Given the description of an element on the screen output the (x, y) to click on. 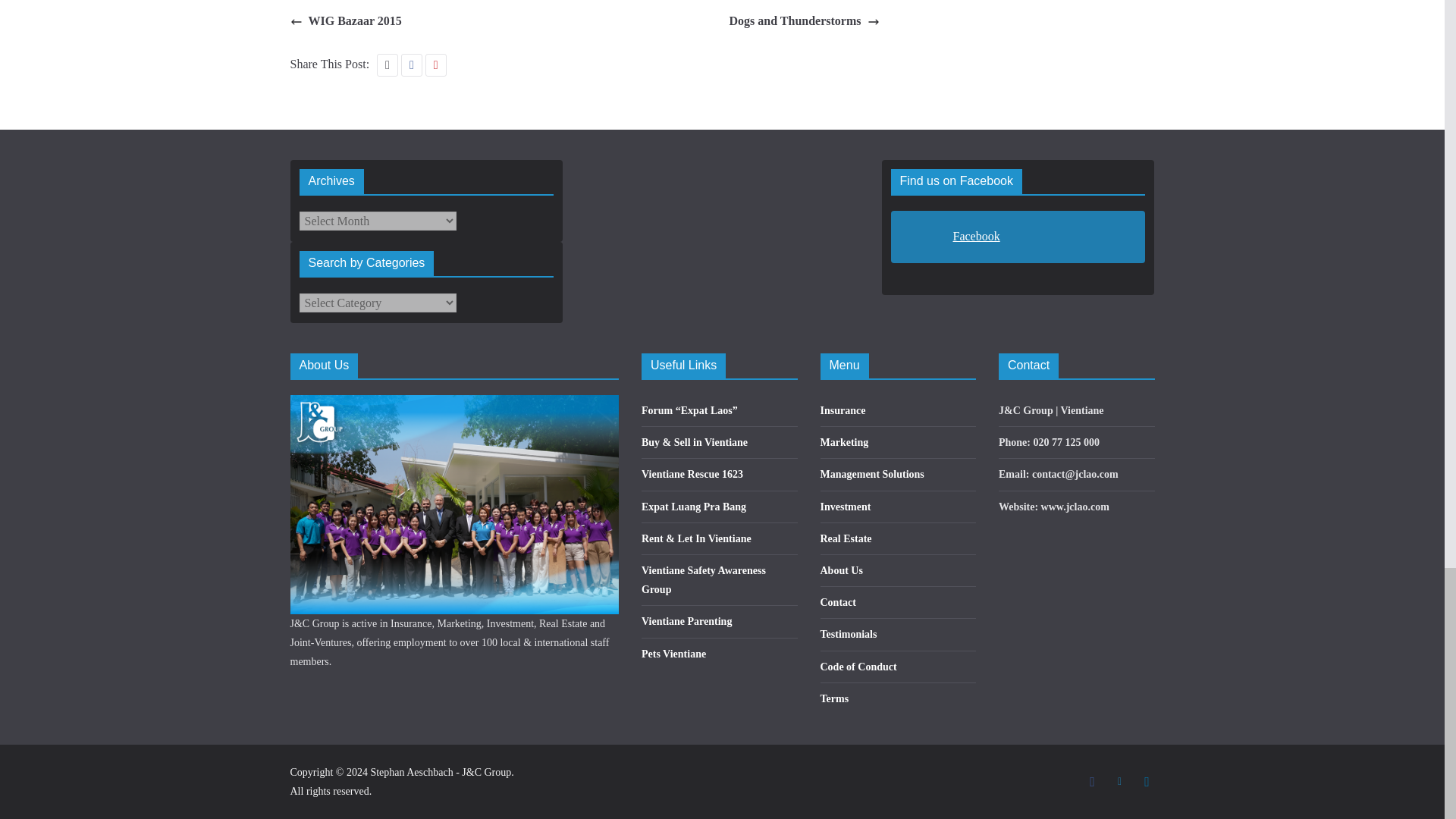
WIG Bazaar 2015 (345, 21)
Dogs and Thunderstorms (804, 21)
